Given the description of an element on the screen output the (x, y) to click on. 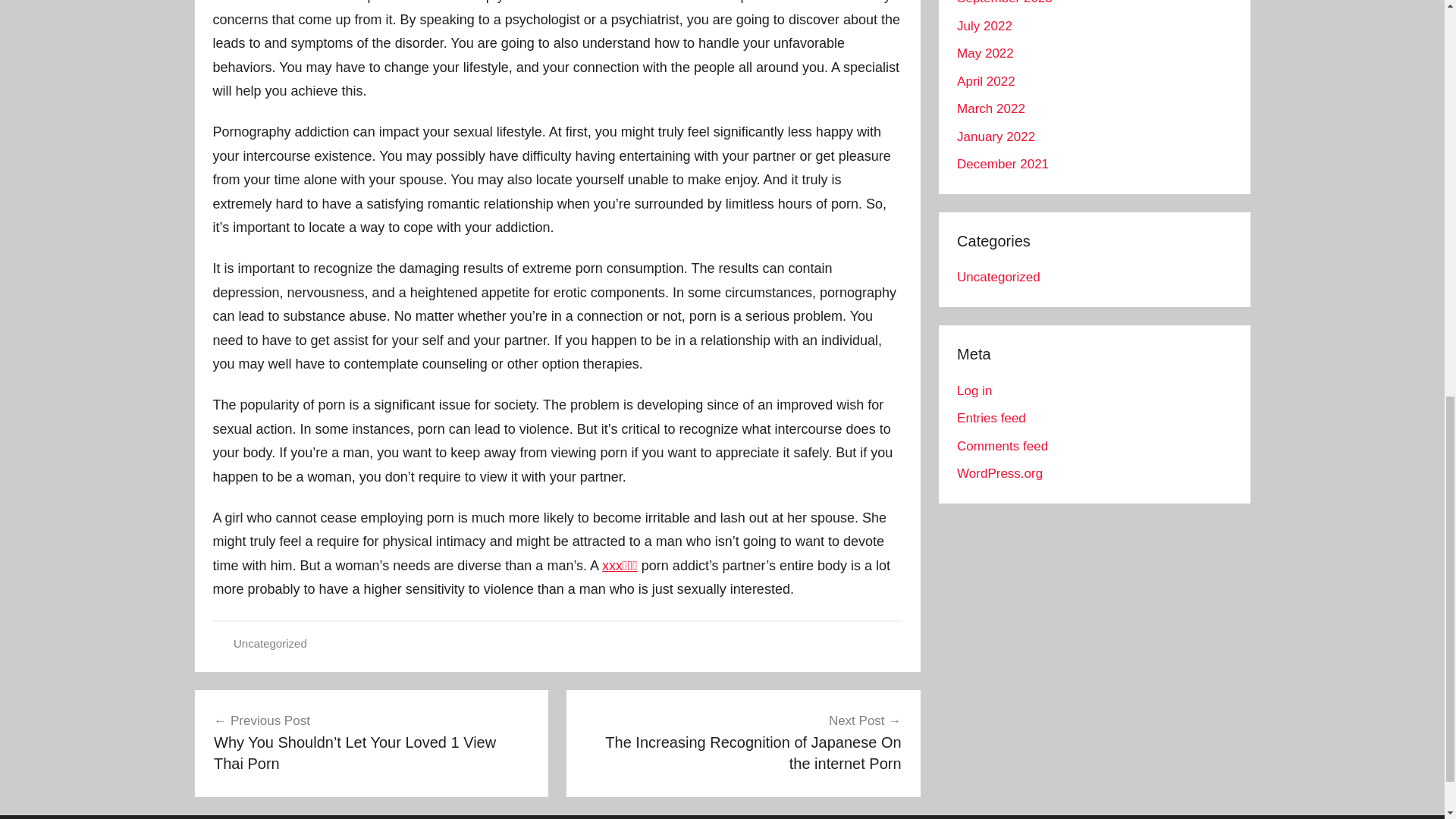
September 2023 (1004, 2)
January 2022 (995, 136)
May 2022 (984, 52)
March 2022 (990, 108)
WordPress.org (999, 473)
Entries feed (991, 418)
July 2022 (983, 25)
December 2021 (1002, 164)
Uncategorized (269, 643)
Uncategorized (998, 277)
Log in (973, 391)
April 2022 (985, 81)
Comments feed (1002, 445)
